Given the description of an element on the screen output the (x, y) to click on. 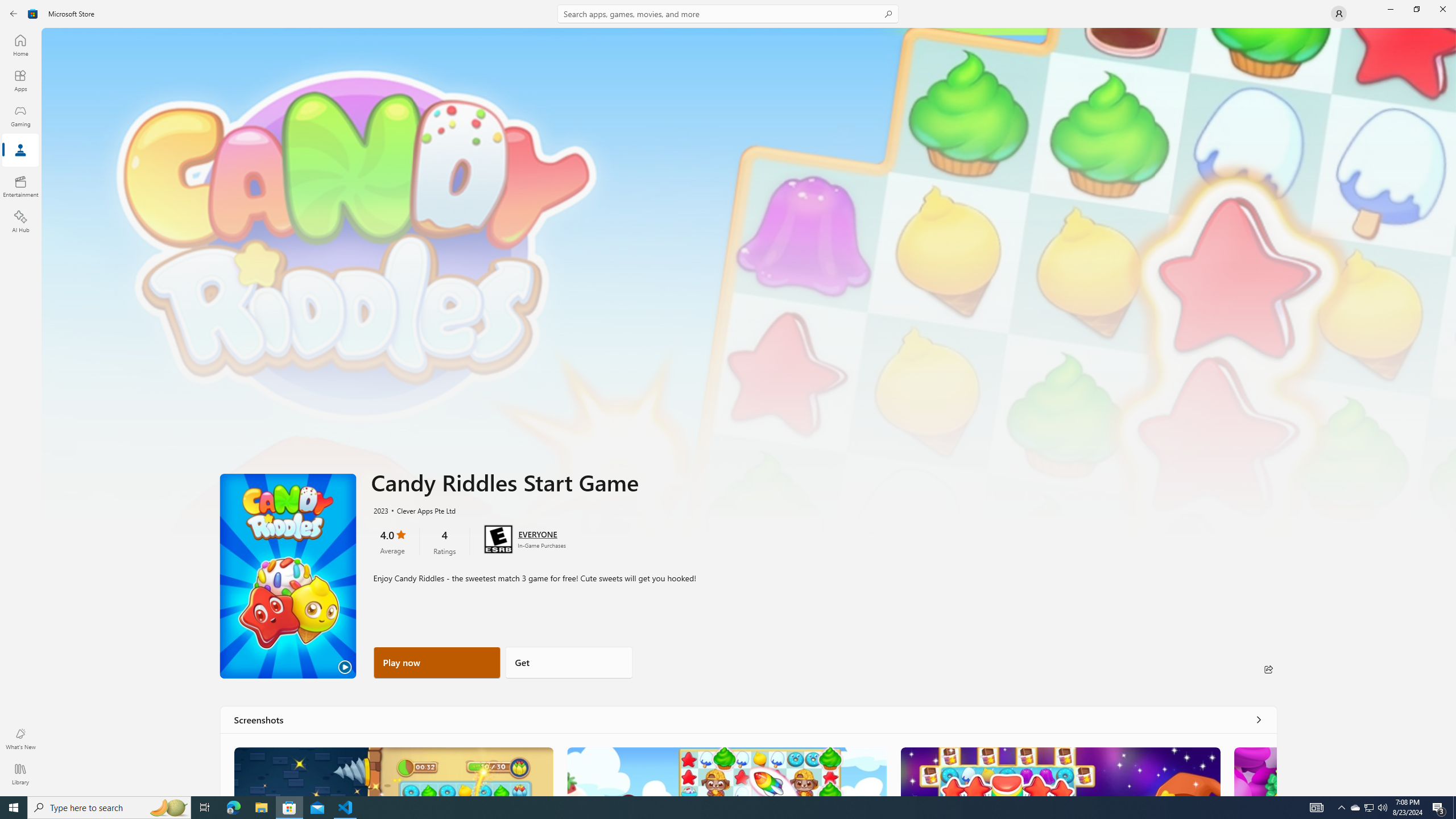
4.0 stars. Click to skip to ratings and reviews (392, 541)
Screenshot 2 (726, 771)
Play now (436, 662)
Arcade (20, 150)
Get (568, 662)
Home (20, 45)
Age rating: EVERYONE. Click for more information. (537, 533)
AutomationID: NavigationControl (728, 398)
Back (13, 13)
Class: Image (393, 771)
Clever Apps Pte Ltd (420, 510)
Search (727, 13)
Close Microsoft Store (1442, 9)
See all (1258, 719)
Library (20, 773)
